Given the description of an element on the screen output the (x, y) to click on. 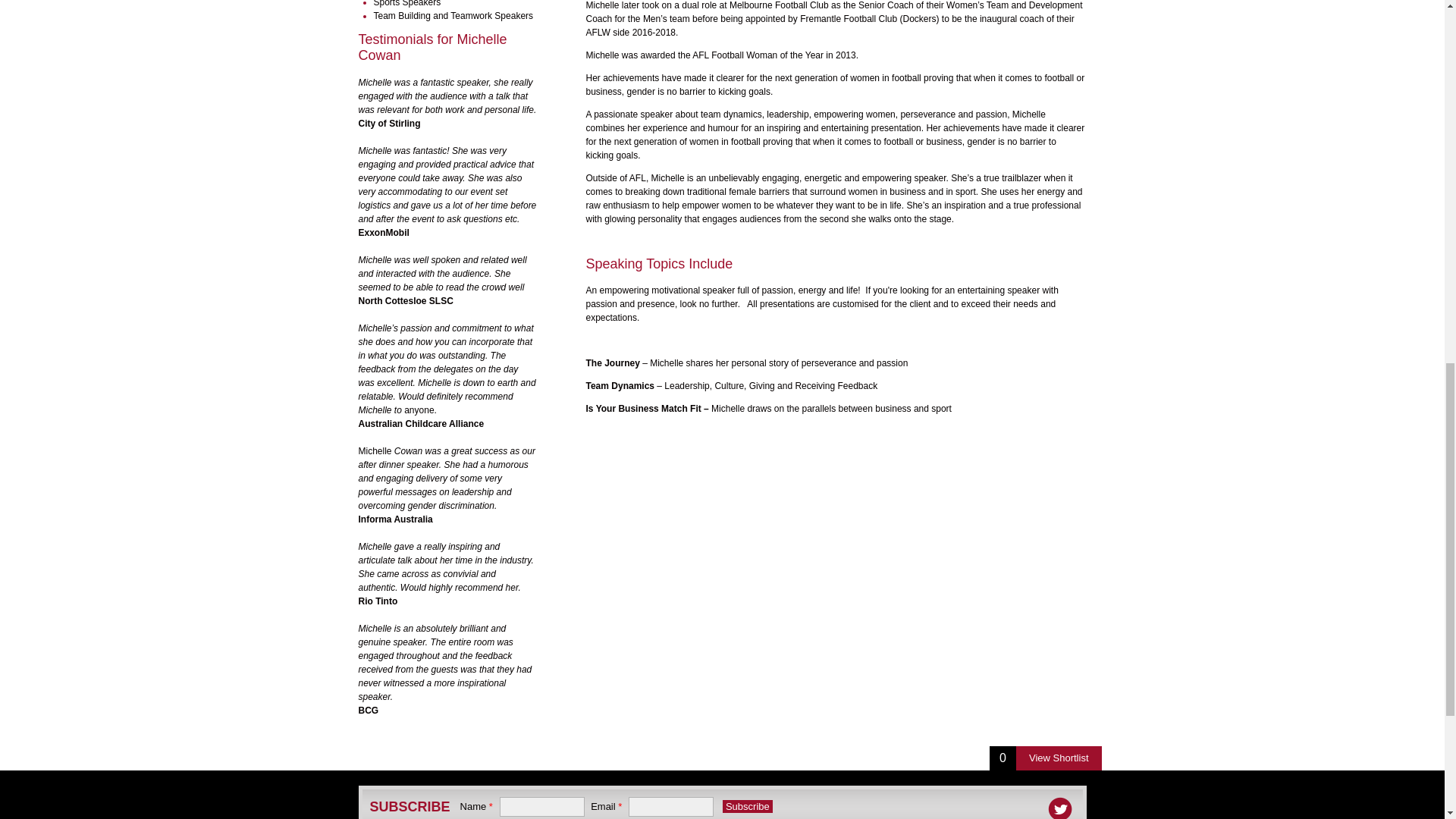
Sports Speakers (406, 3)
Subscribe (747, 806)
Subscribe (747, 806)
View Shortlist (1059, 758)
Team Building and Teamwork Speakers (452, 15)
